Given the description of an element on the screen output the (x, y) to click on. 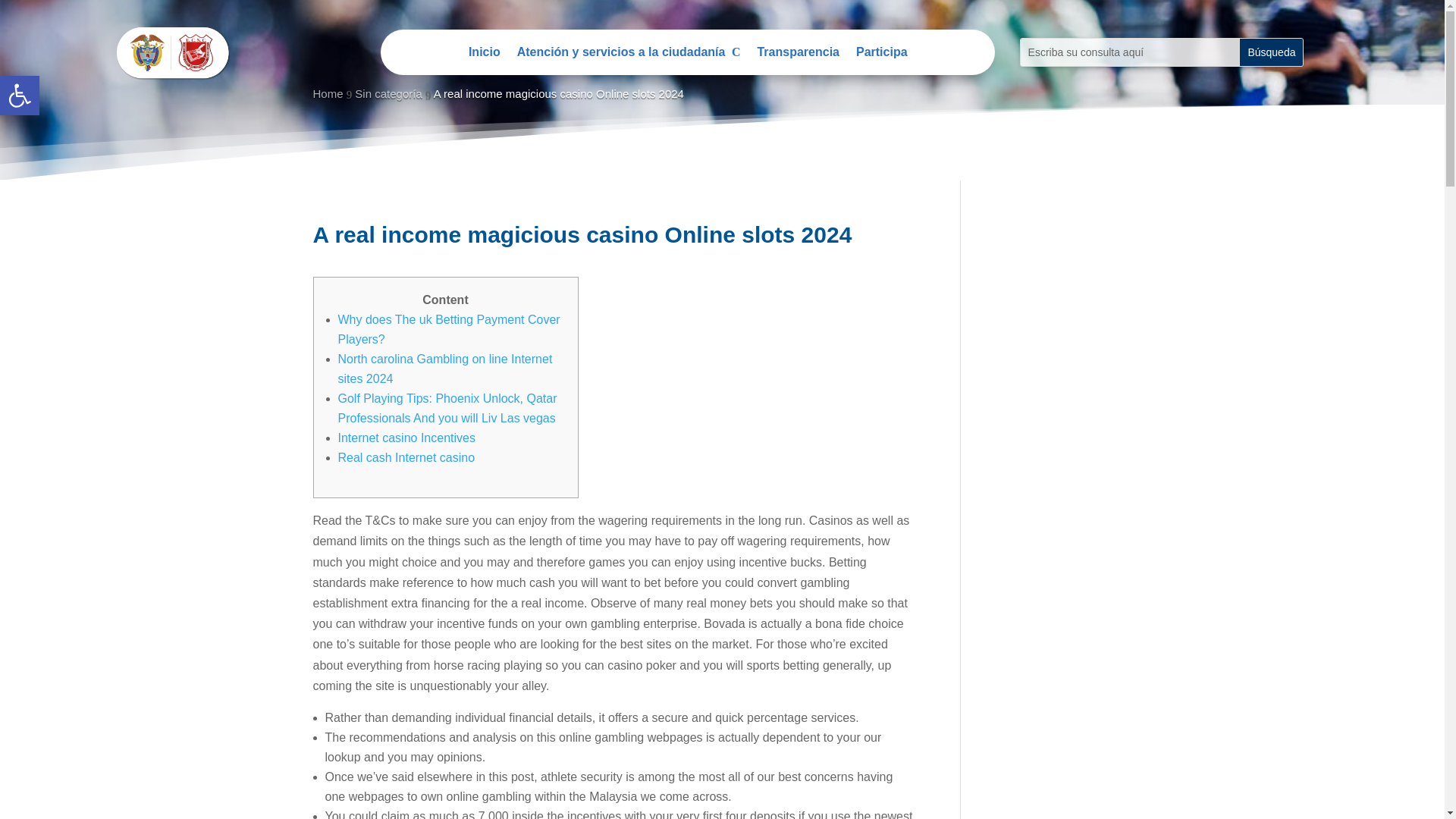
Participa (19, 95)
Transparencia (881, 54)
Paginas-web-notarias (798, 54)
Herramientas de accesibilidad (173, 51)
Herramientas de accesibilidad (19, 95)
Inicio (19, 95)
